Given the description of an element on the screen output the (x, y) to click on. 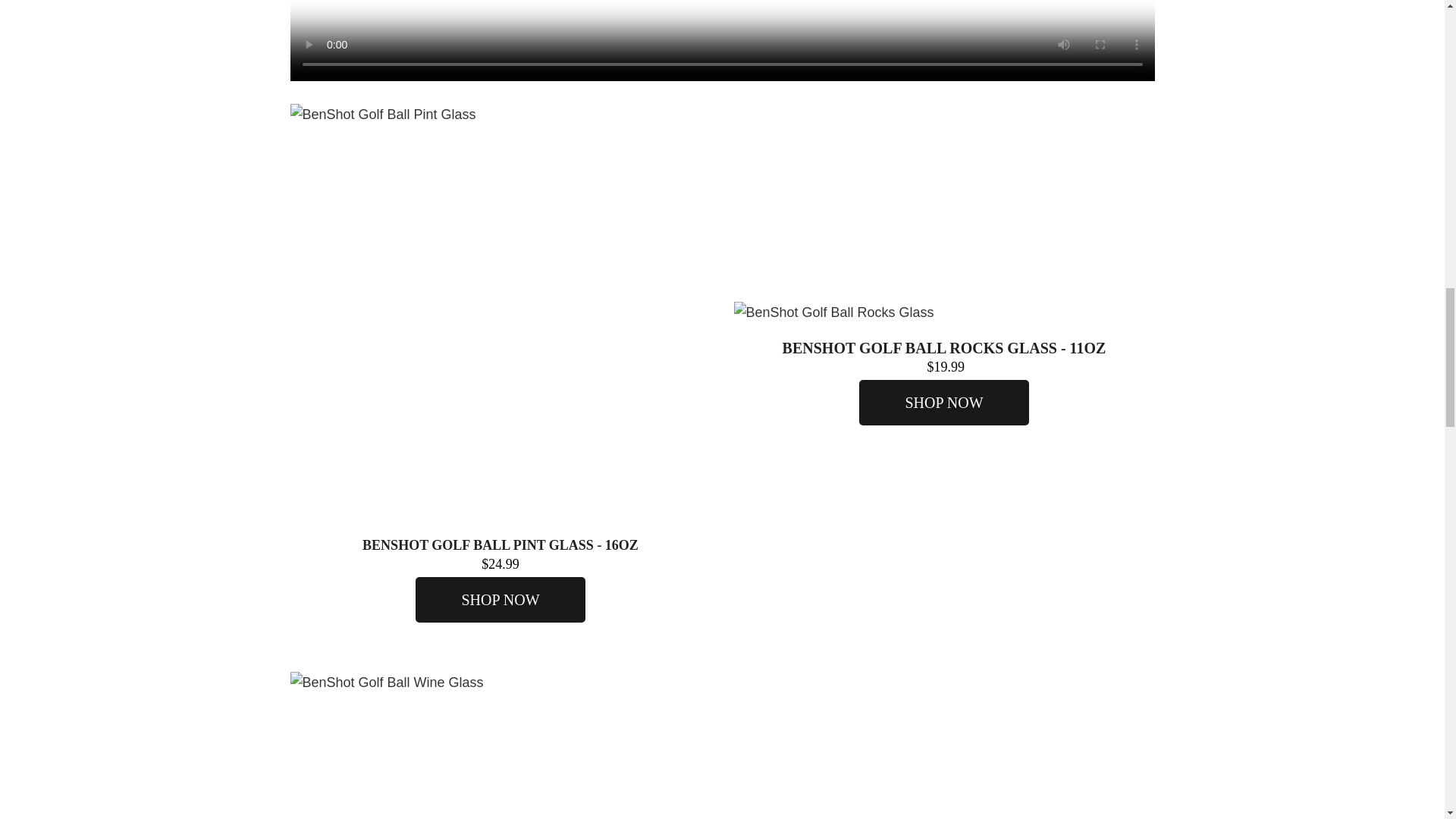
BenShot Golf Ball Wine Glass (499, 745)
BenShot Golf Ball Rocks Glass (943, 312)
